Given the description of an element on the screen output the (x, y) to click on. 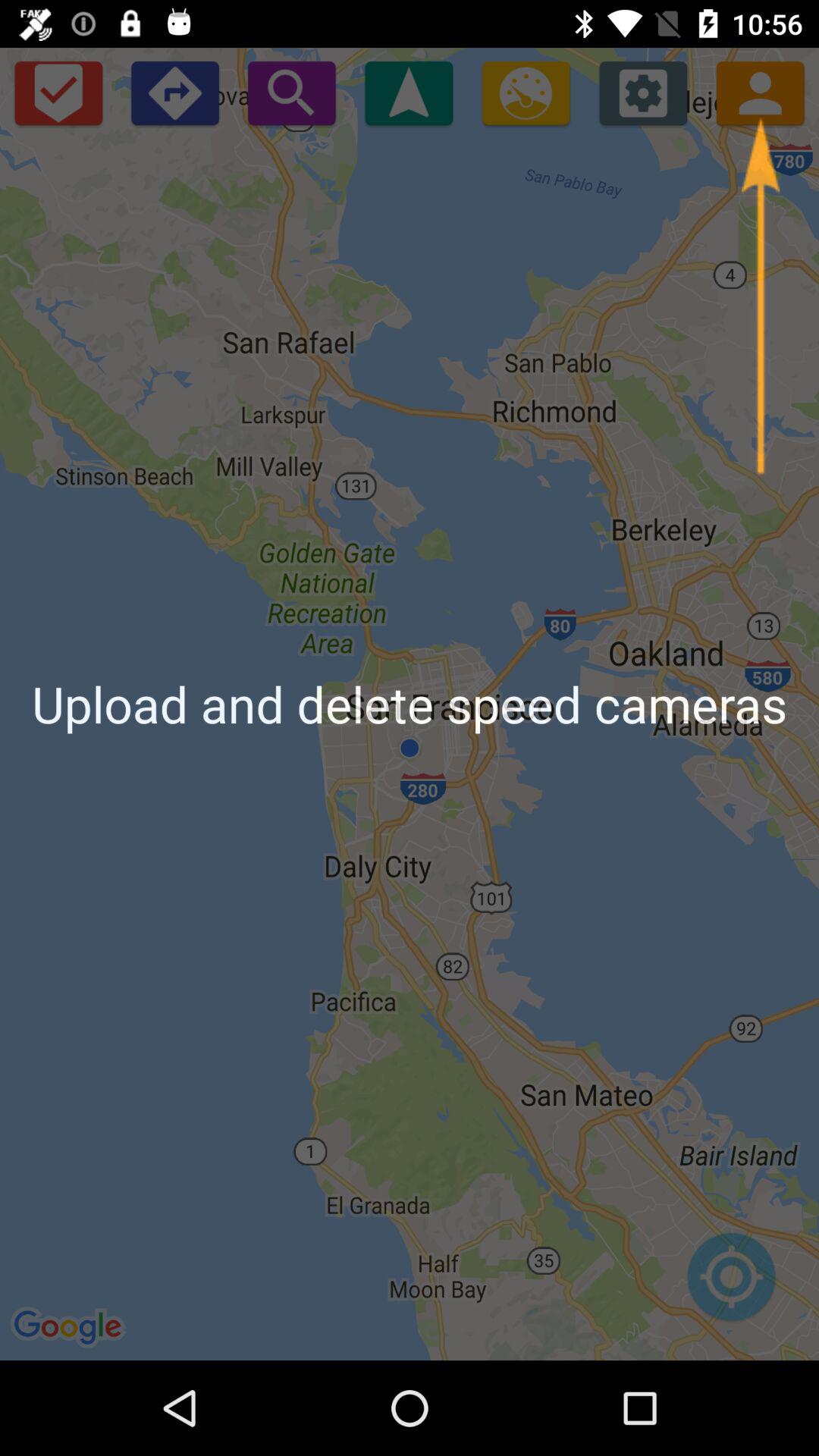
goes to images (525, 92)
